Given the description of an element on the screen output the (x, y) to click on. 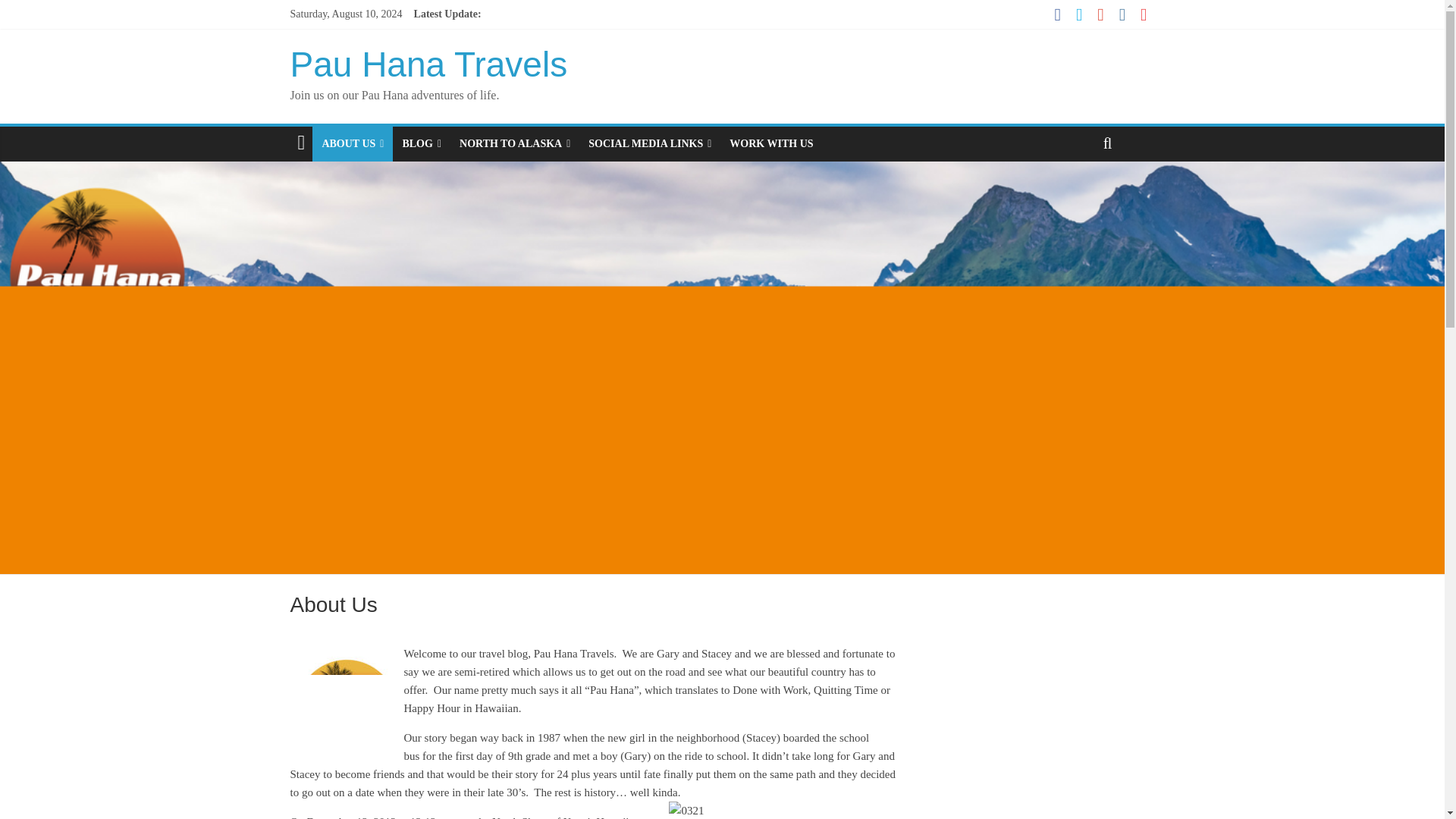
WORK WITH US (771, 143)
ABOUT US (353, 143)
Pau Hana Travels (428, 64)
SOCIAL MEDIA LINKS (649, 143)
BLOG (421, 143)
Pau Hana Travels (428, 64)
NORTH TO ALASKA (514, 143)
